Given the description of an element on the screen output the (x, y) to click on. 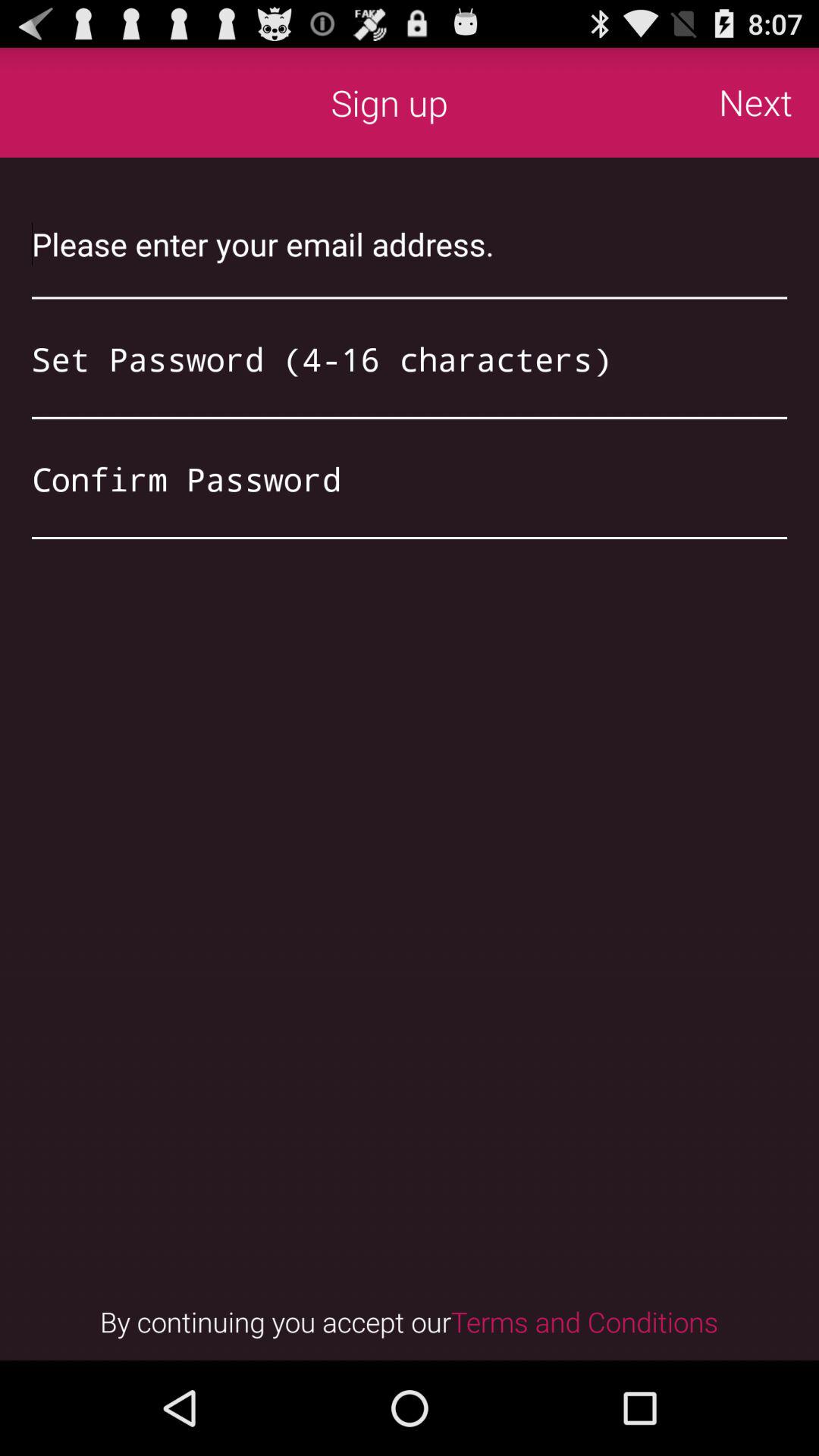
enter email address (409, 243)
